Given the description of an element on the screen output the (x, y) to click on. 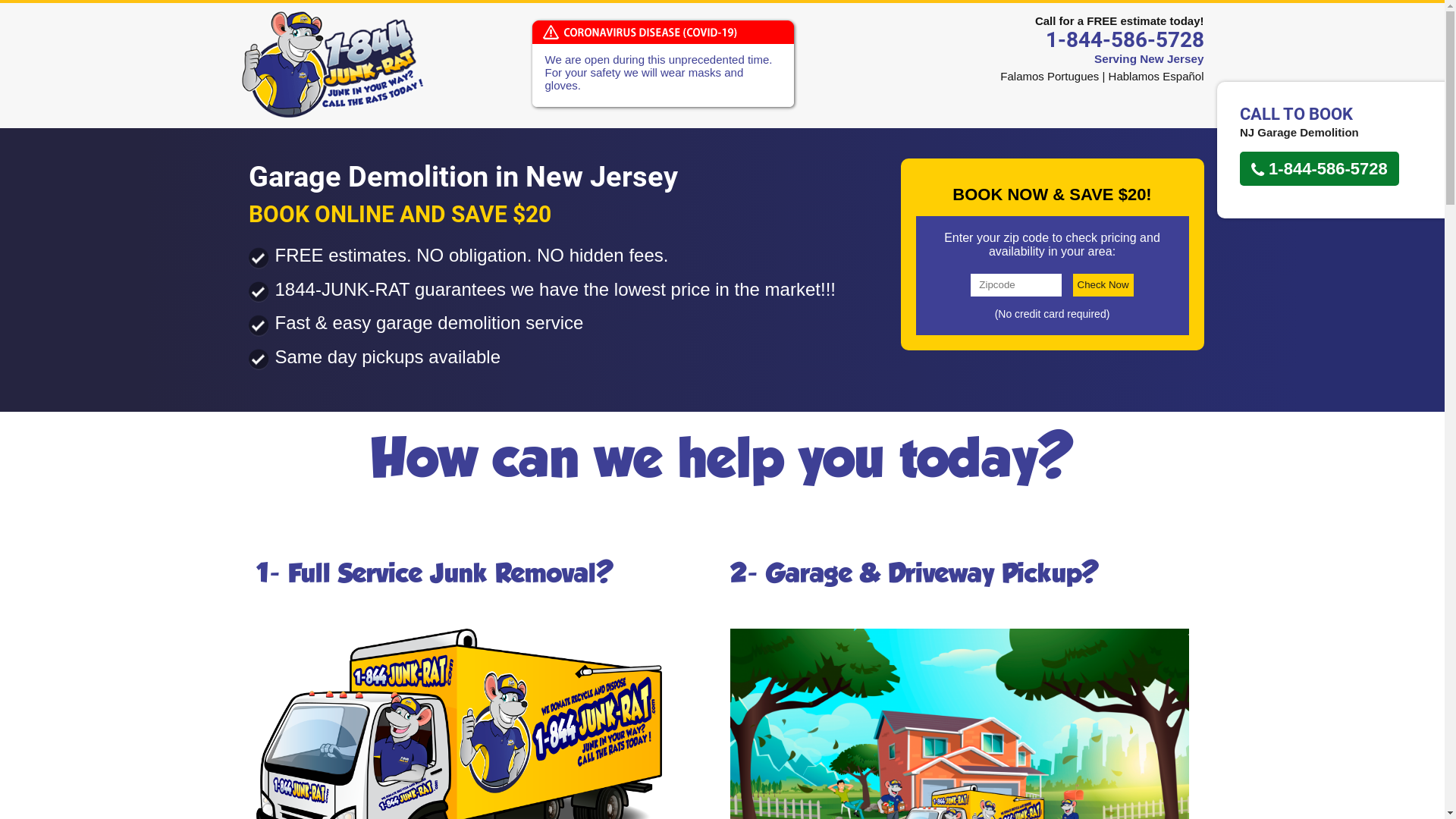
Junk rat Junk Removal - New Jersey Element type: hover (332, 64)
1-844-586-5728 Element type: text (1319, 168)
1-844-586-5728 Element type: text (1101, 39)
Check Now Element type: text (1102, 284)
